Given the description of an element on the screen output the (x, y) to click on. 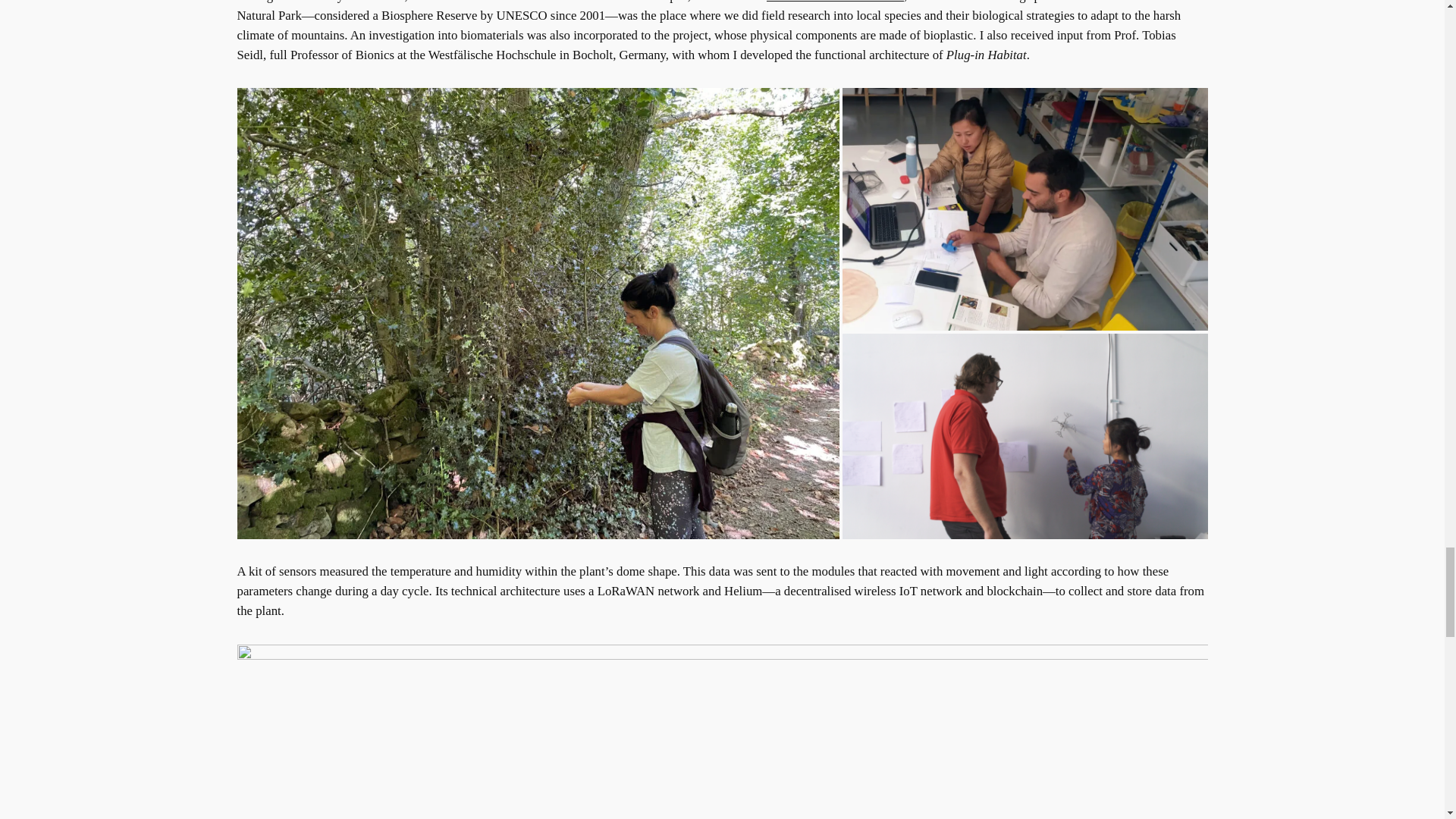
Laboratorio Biomimetico (835, 1)
